Given the description of an element on the screen output the (x, y) to click on. 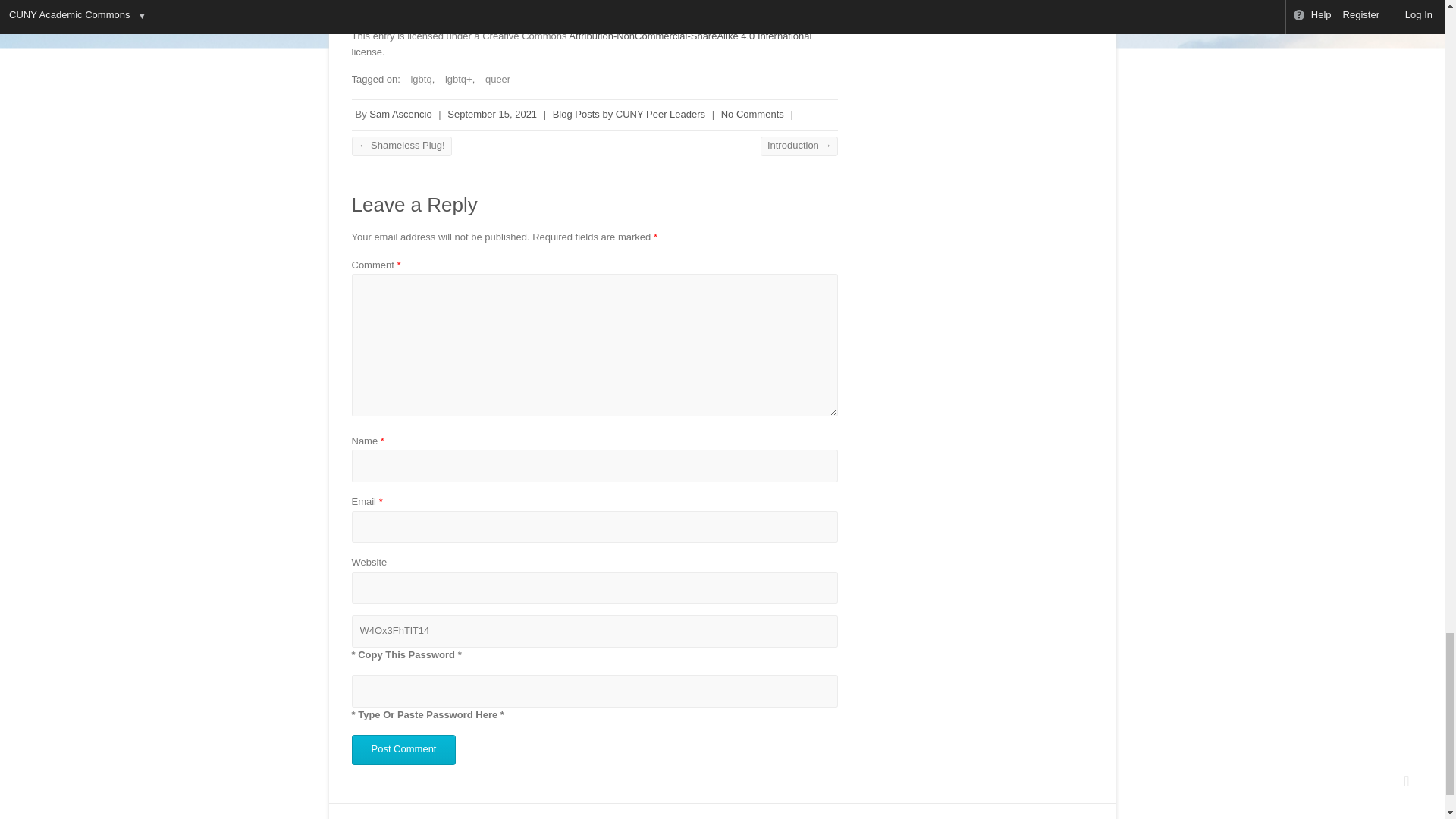
Post Comment (404, 749)
W4Ox3FhTlT14 (595, 631)
No Comments (752, 112)
Blog Posts by CUNY Peer Leaders (628, 112)
Attribution-NonCommercial-ShareAlike 4.0 International (689, 35)
September 15, 2021 (491, 112)
Sam Ascencio (399, 112)
lgbtq (416, 79)
queer (494, 79)
5:34 am (491, 112)
